Given the description of an element on the screen output the (x, y) to click on. 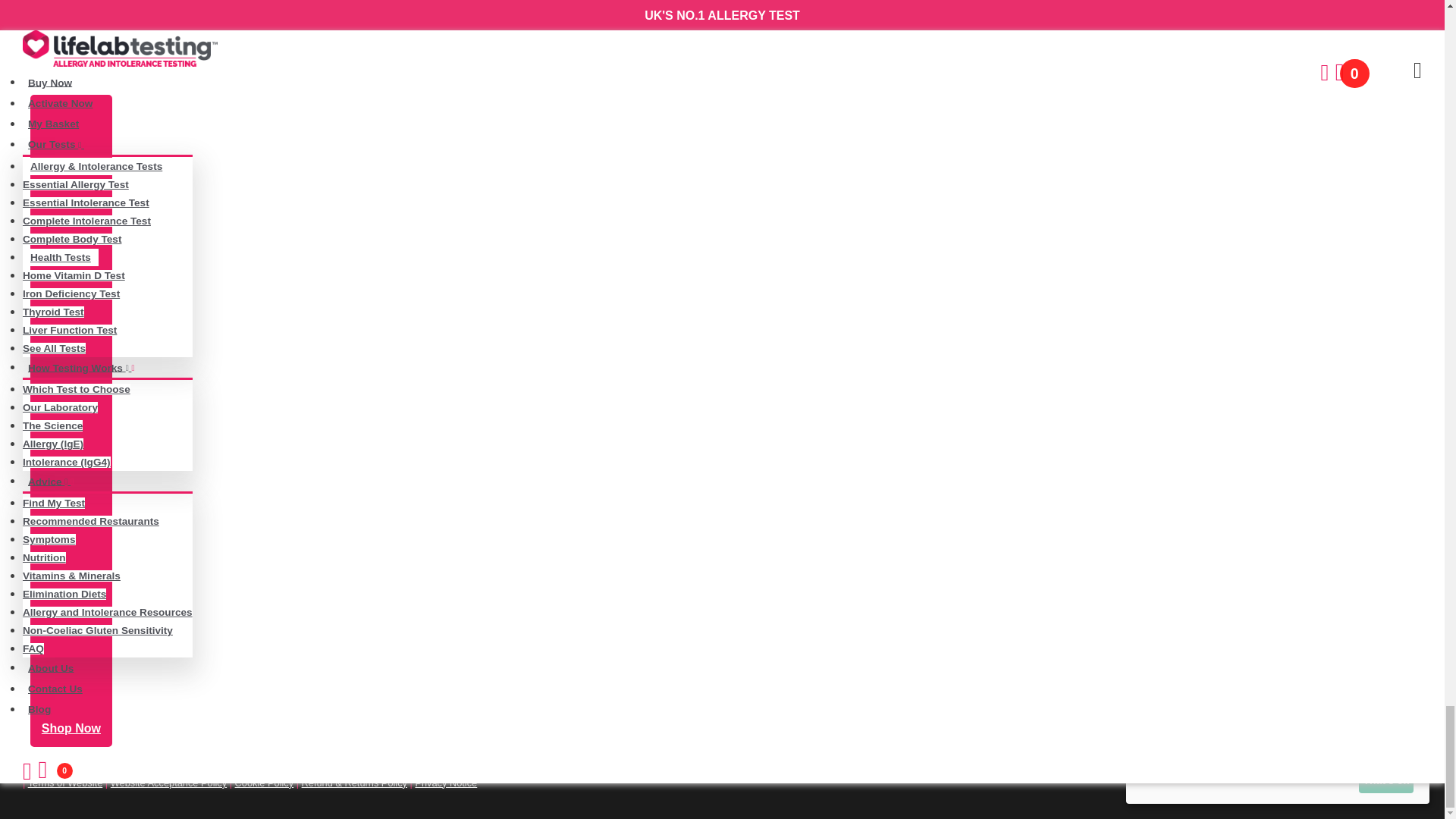
Subscribe (71, 242)
